Given the description of an element on the screen output the (x, y) to click on. 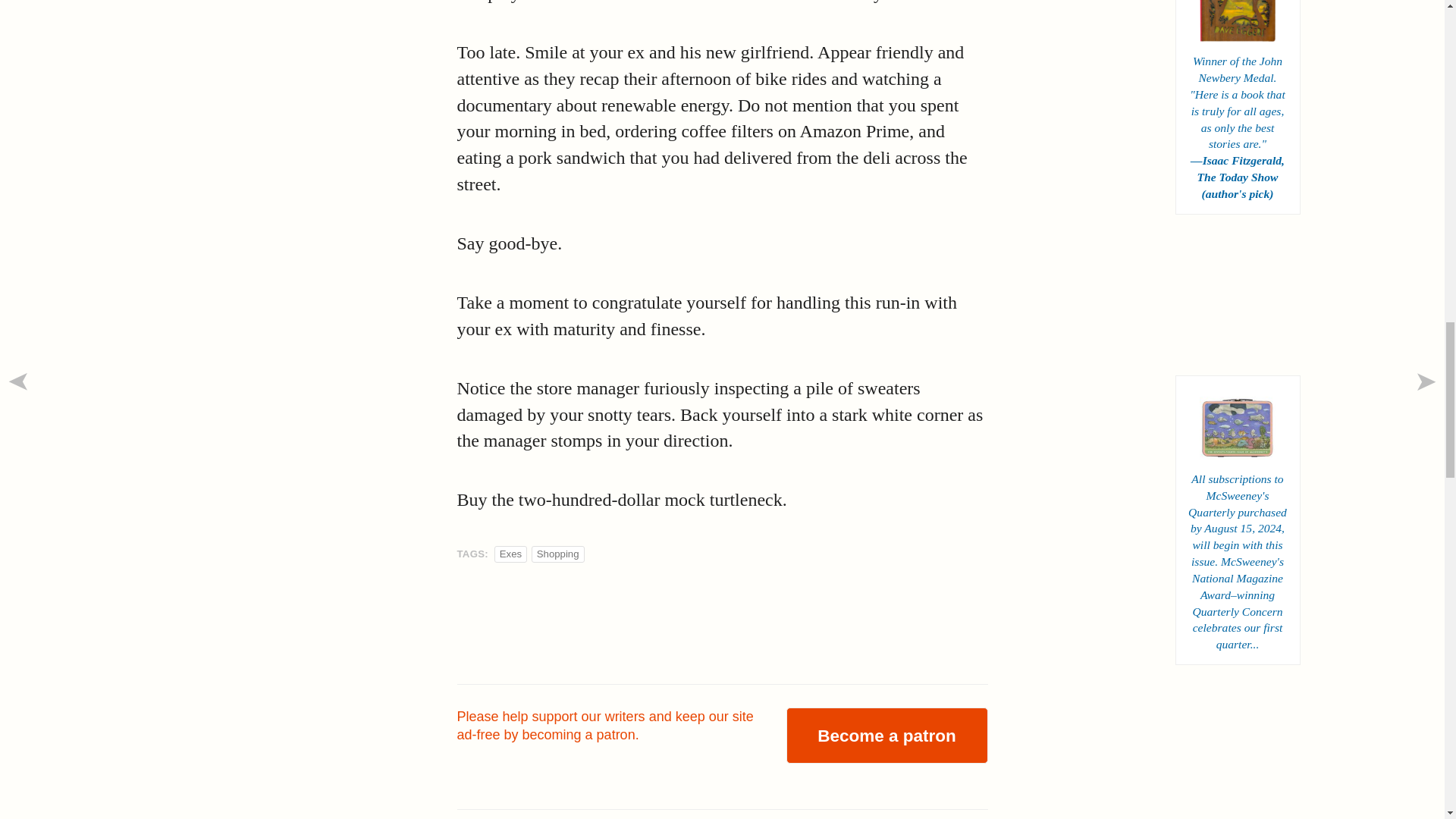
Become a patron (886, 735)
Exes (510, 553)
Shopping (558, 553)
